Given the description of an element on the screen output the (x, y) to click on. 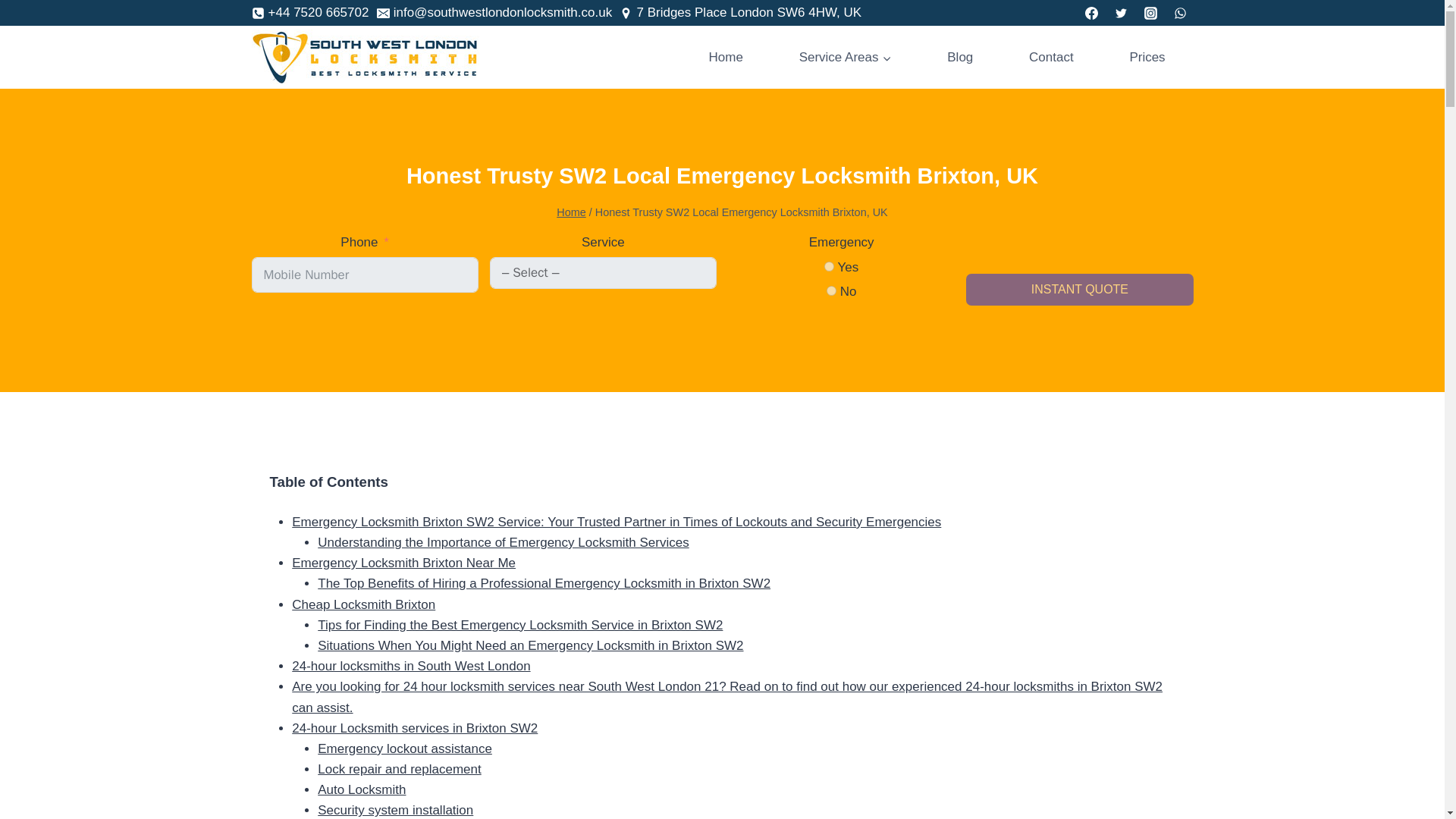
Home (571, 212)
7 Bridges Place London SW6 4HW, UK (740, 12)
Yes (829, 266)
Prices (1147, 56)
Blog (959, 56)
Home (726, 56)
Contact (1050, 56)
Service Areas (845, 56)
INSTANT QUOTE (1079, 289)
No (831, 290)
